Given the description of an element on the screen output the (x, y) to click on. 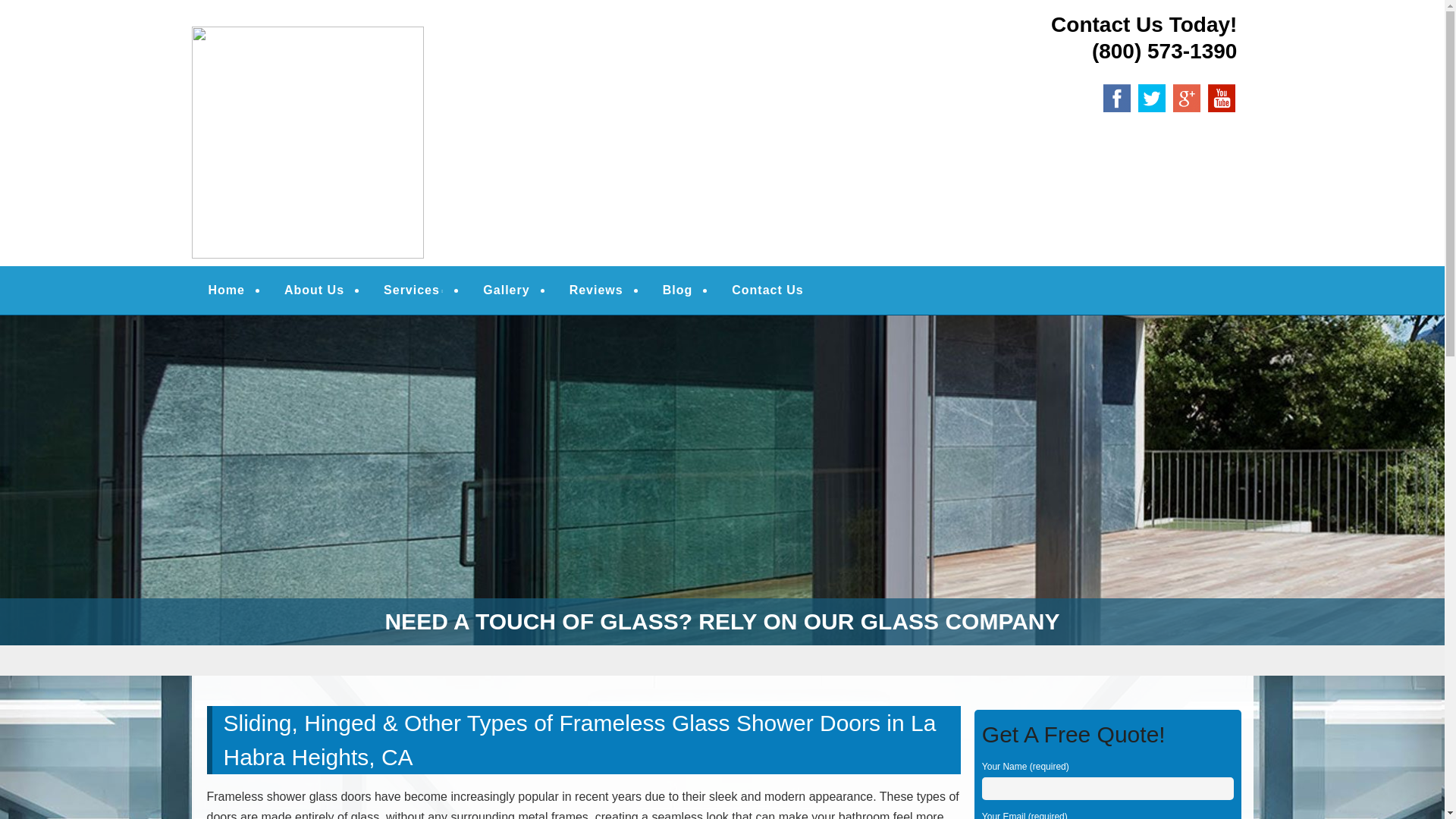
About Us (314, 290)
Home (225, 290)
Reviews (596, 290)
Blog (677, 290)
M and M Glass (309, 32)
M AND M GLASS (309, 32)
Gallery (506, 290)
Services (413, 290)
Contact Us (766, 290)
